Given the description of an element on the screen output the (x, y) to click on. 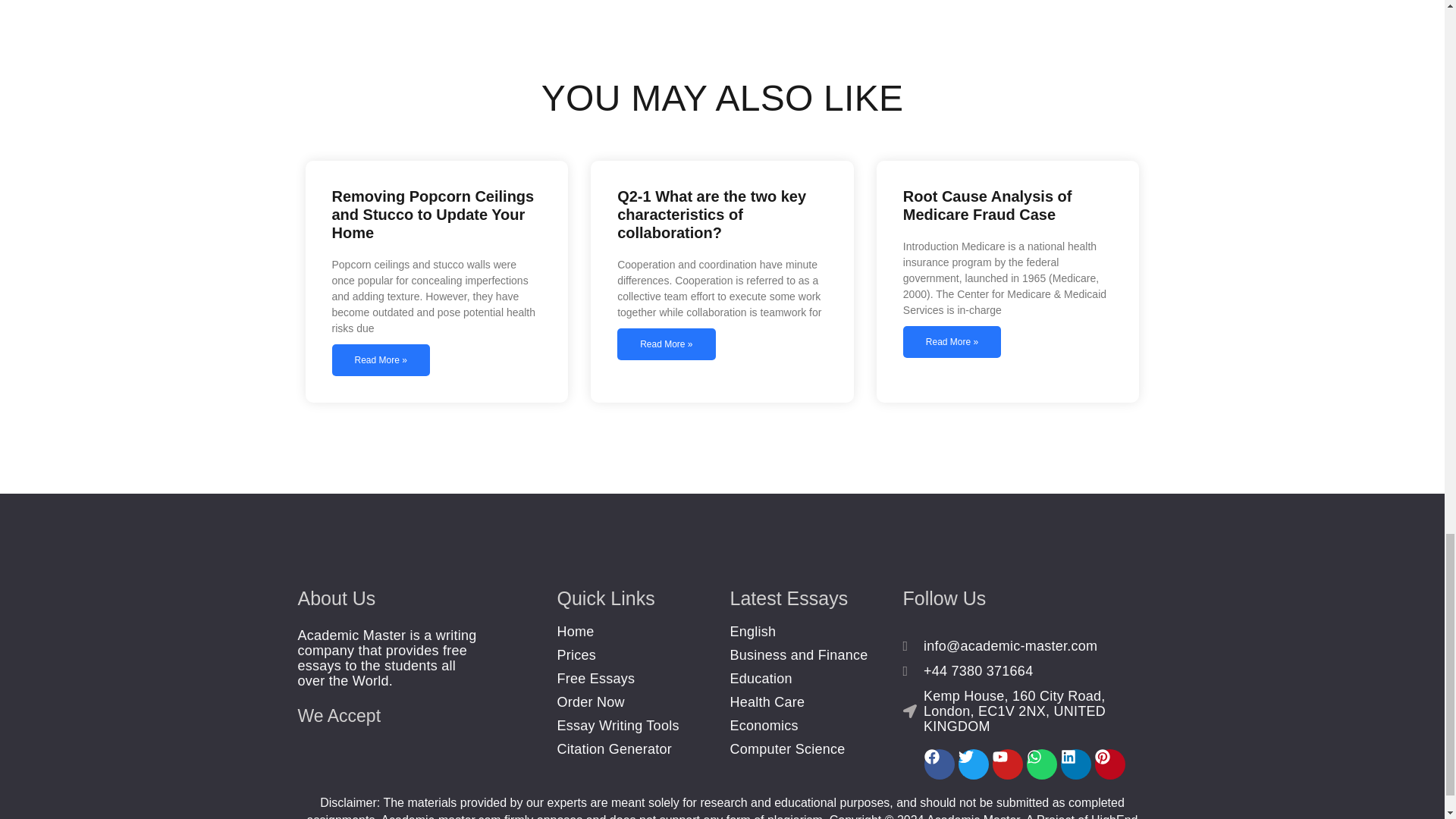
Removing Popcorn Ceilings and Stucco to Update Your Home (432, 214)
Q2-1 What are the two key characteristics of collaboration? (711, 214)
